Given the description of an element on the screen output the (x, y) to click on. 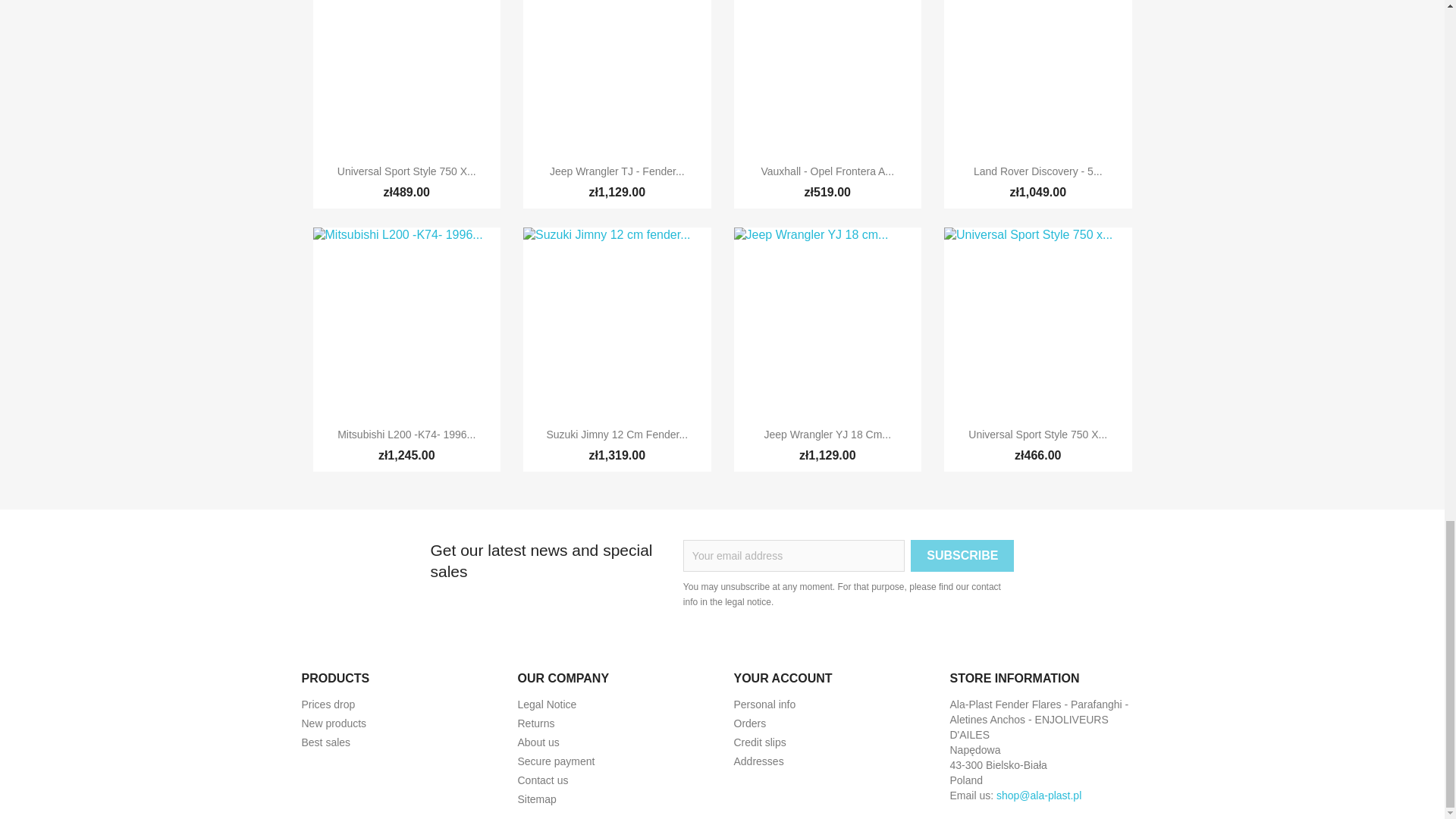
Our best sales (325, 742)
Legal notice (546, 704)
Use our form to contact us (541, 779)
Learn more about us (537, 742)
Personal info (764, 704)
Our new products (333, 723)
Subscribe (962, 555)
Our special products (328, 704)
ReturnsReturns (535, 723)
Orders (750, 723)
